Given the description of an element on the screen output the (x, y) to click on. 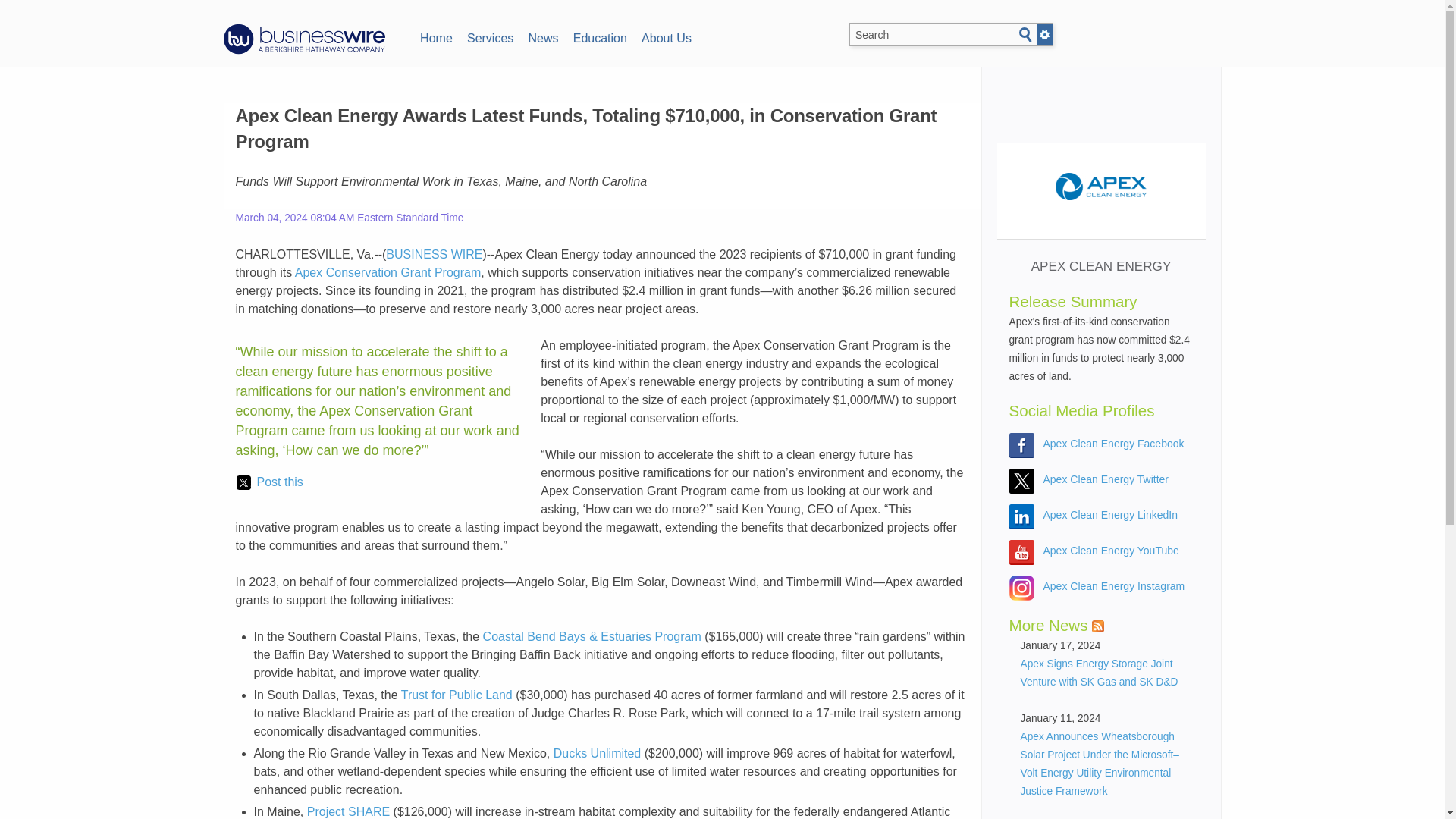
Ducks Unlimited (597, 753)
Education (599, 36)
Search (1025, 34)
Apex Clean Energy Twitter (1106, 479)
Apex Conservation Grant Program (387, 272)
Apex Clean Energy Facebook (1114, 443)
BUSINESS WIRE (433, 254)
Apex Clean Energy LinkedIn (1110, 514)
RSS feed for Apex Clean Energy (1097, 625)
News (543, 36)
Apex Clean Energy YouTube (1111, 550)
Post this (269, 481)
Trust for Public Land (456, 694)
Search BusinessWire.com (948, 34)
Home (436, 36)
